Given the description of an element on the screen output the (x, y) to click on. 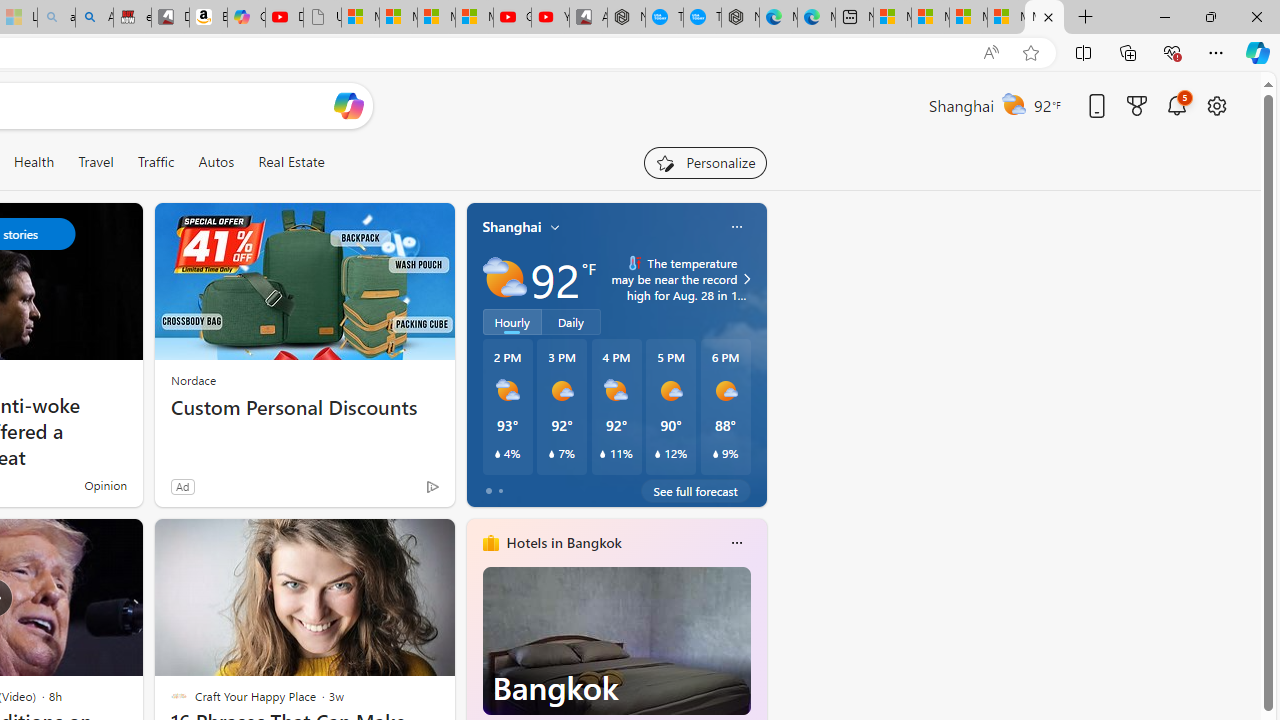
The most popular Google 'how to' searches (701, 17)
Copilot (245, 17)
Amazon Echo Dot PNG - Search Images (93, 17)
Autos (215, 161)
